Given the description of an element on the screen output the (x, y) to click on. 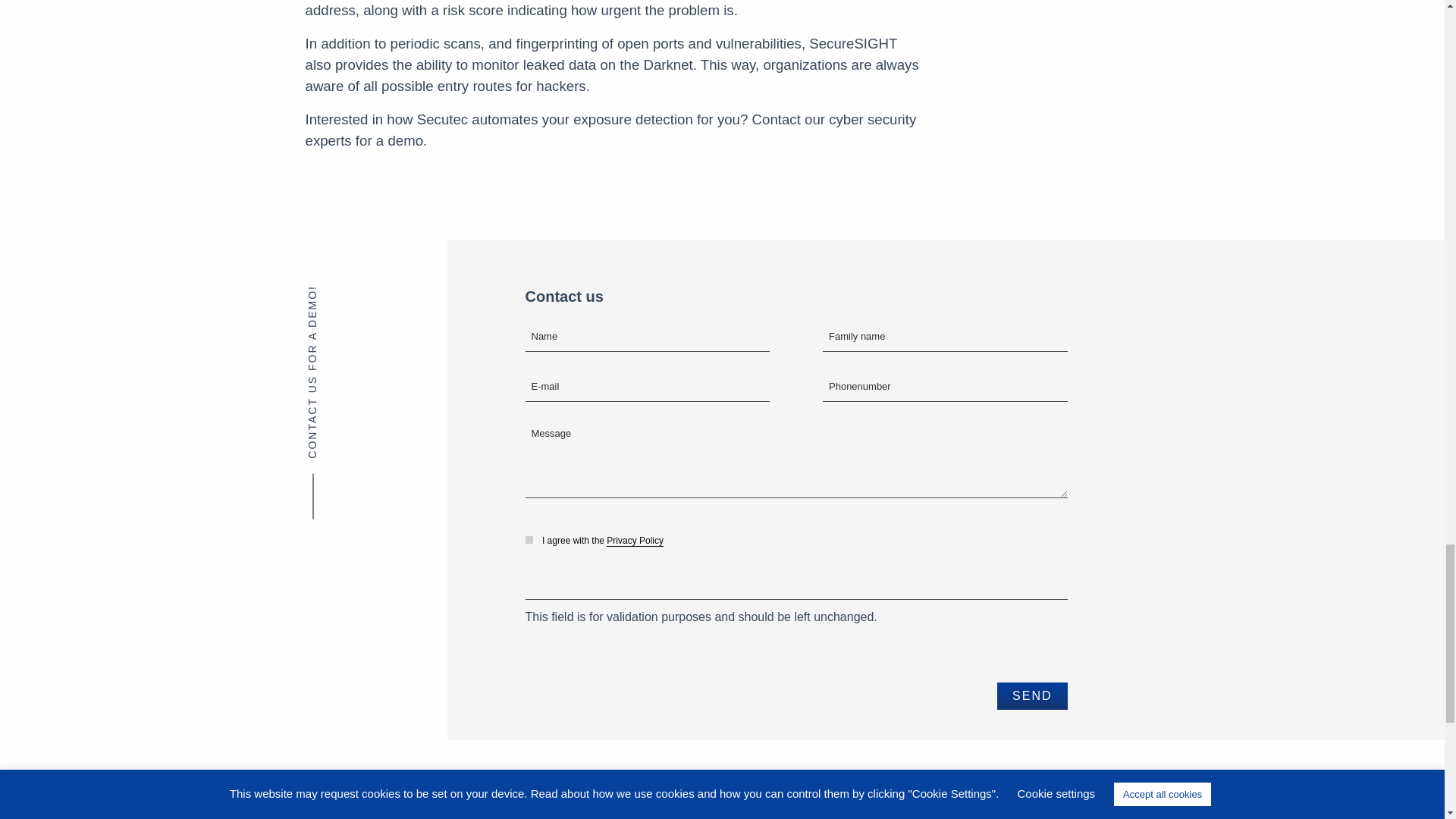
Send (1032, 696)
